Given the description of an element on the screen output the (x, y) to click on. 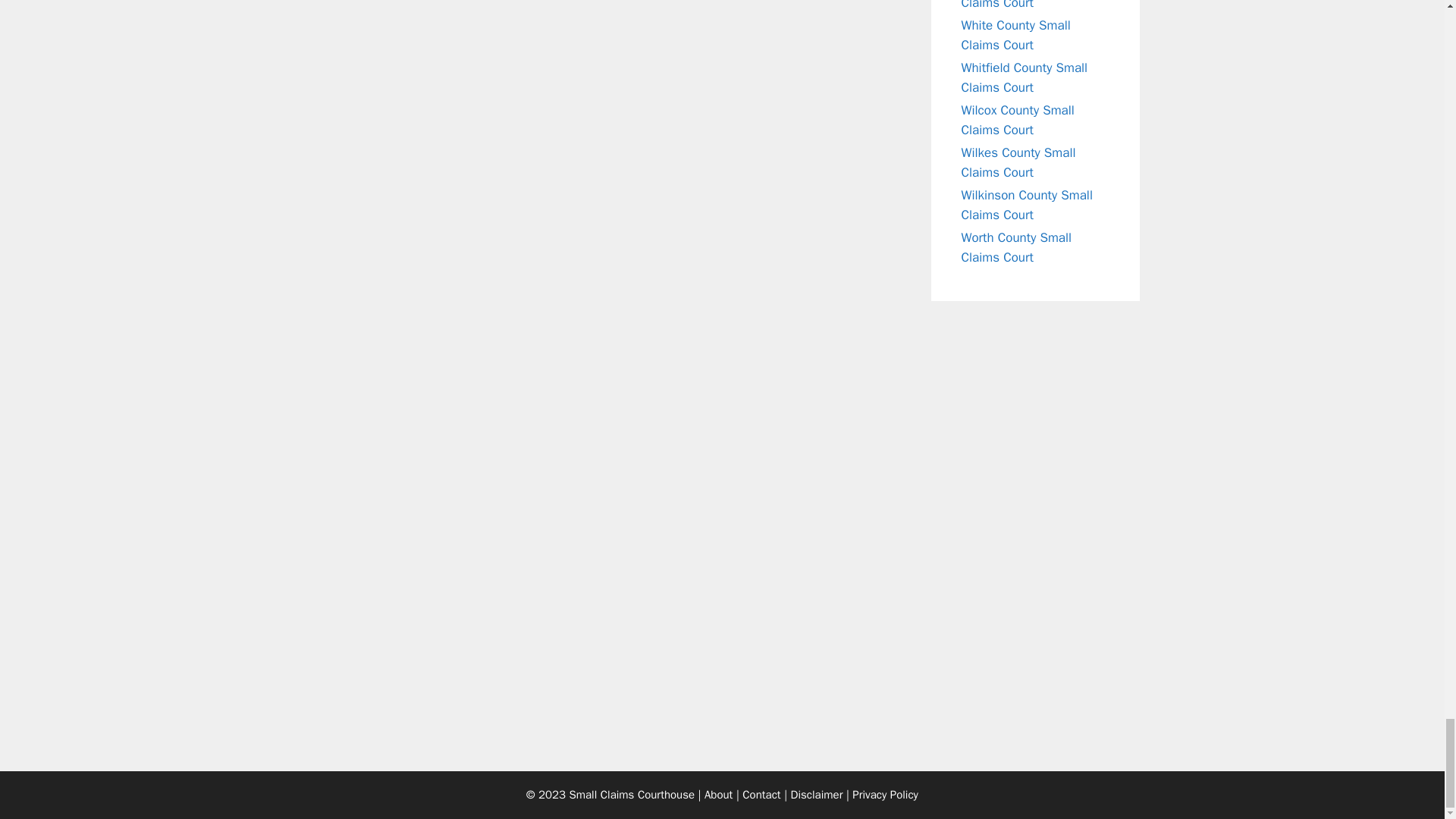
About smallclaimscourthouse.com (718, 794)
Disclaimer smallclaimscourthouse.com Disclaimer (816, 794)
Contact smallclaimscourthouse.com (761, 794)
Privacy Policy for smallclaimscourthouse.com (884, 794)
